Given the description of an element on the screen output the (x, y) to click on. 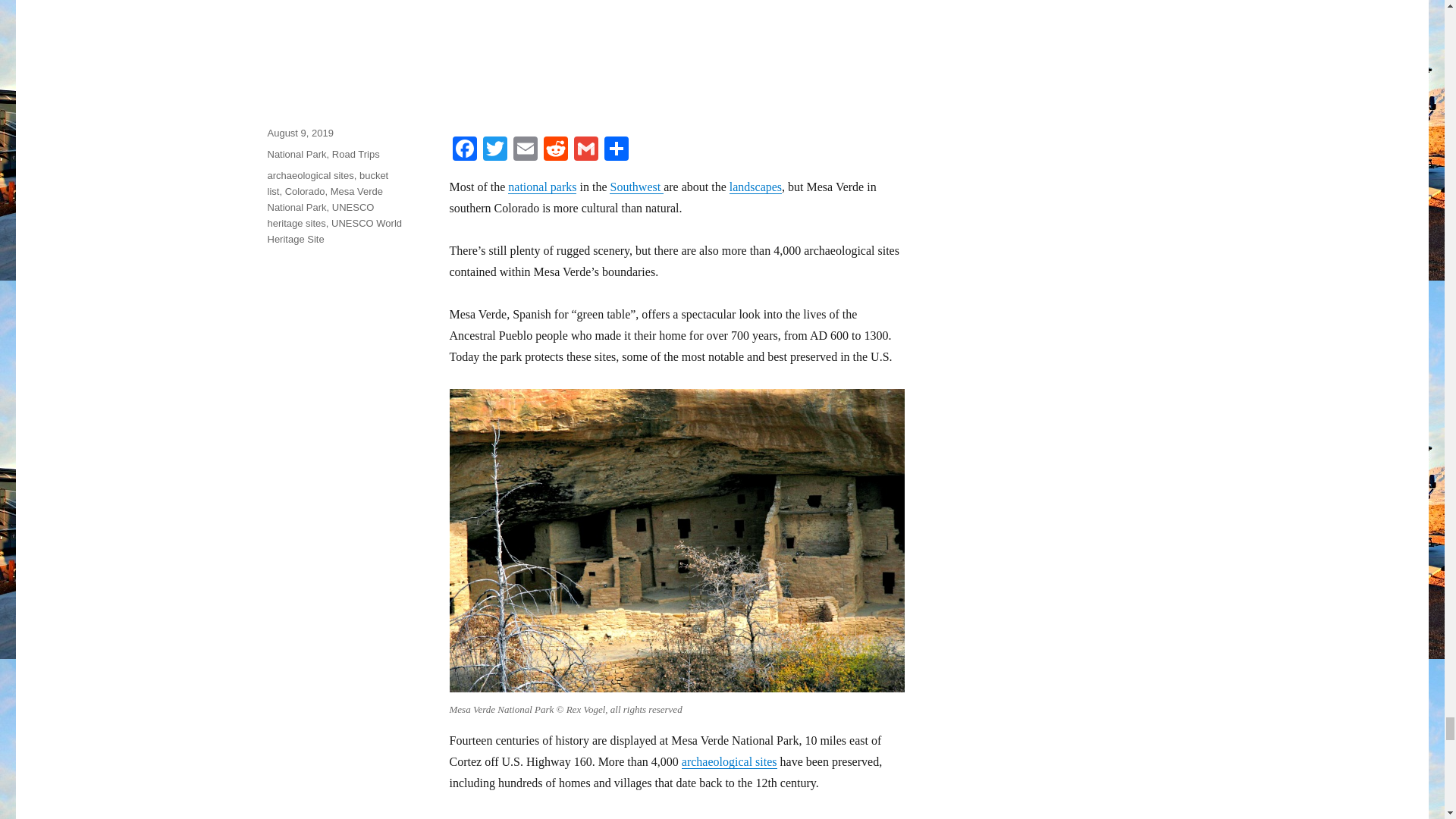
Twitter (494, 150)
Email (524, 150)
Facebook (463, 150)
